Given the description of an element on the screen output the (x, y) to click on. 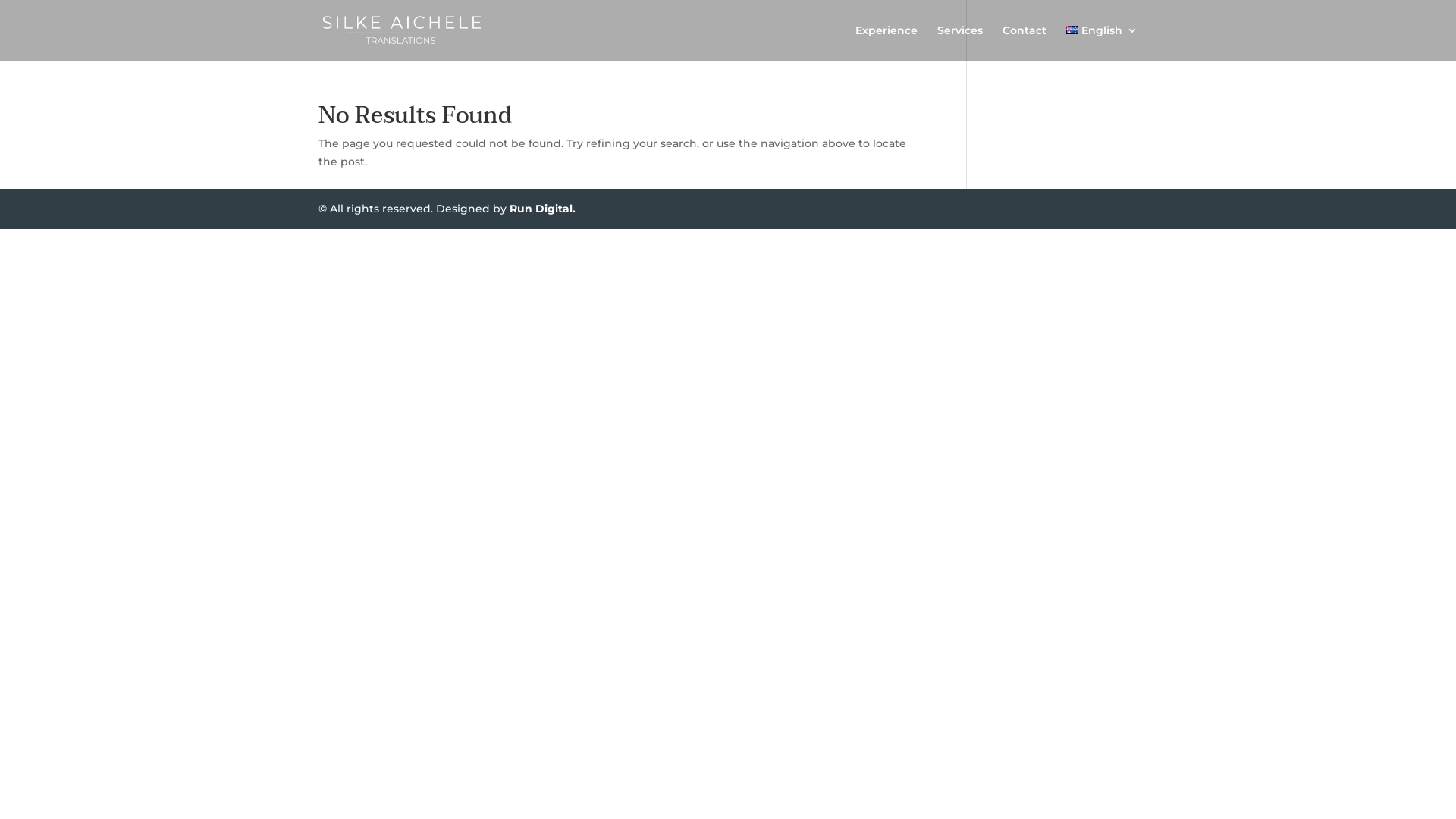
Experience Element type: text (886, 42)
Contact Element type: text (1024, 42)
English Element type: text (1101, 42)
Run Digital. Element type: text (542, 208)
Services Element type: text (959, 42)
